Given the description of an element on the screen output the (x, y) to click on. 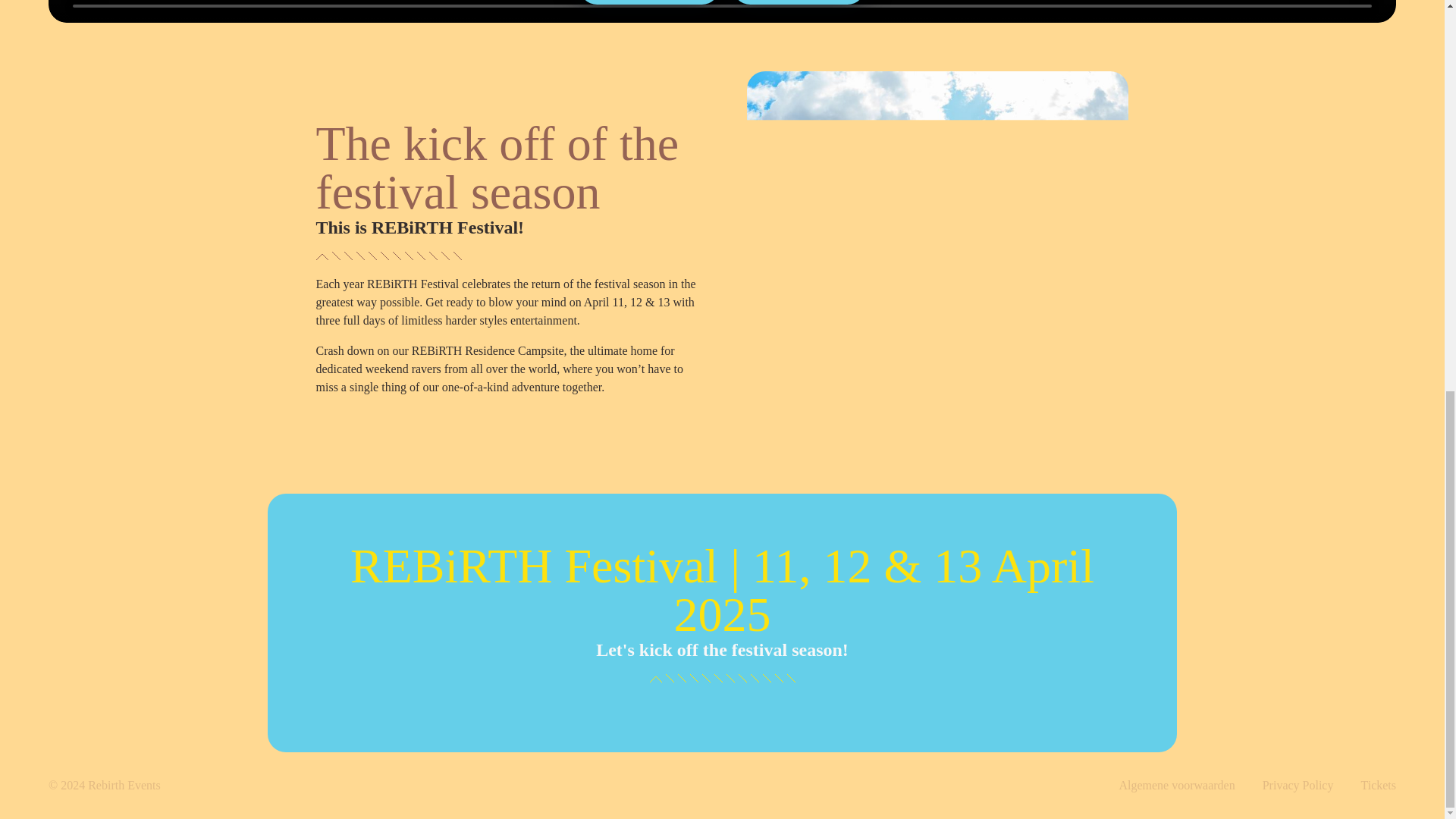
Tickets (1377, 784)
Algemene voorwaarden (1176, 784)
Join the 2025 event! (798, 2)
Pre-register for 2025! (648, 2)
Privacy Policy (1297, 784)
